Given the description of an element on the screen output the (x, y) to click on. 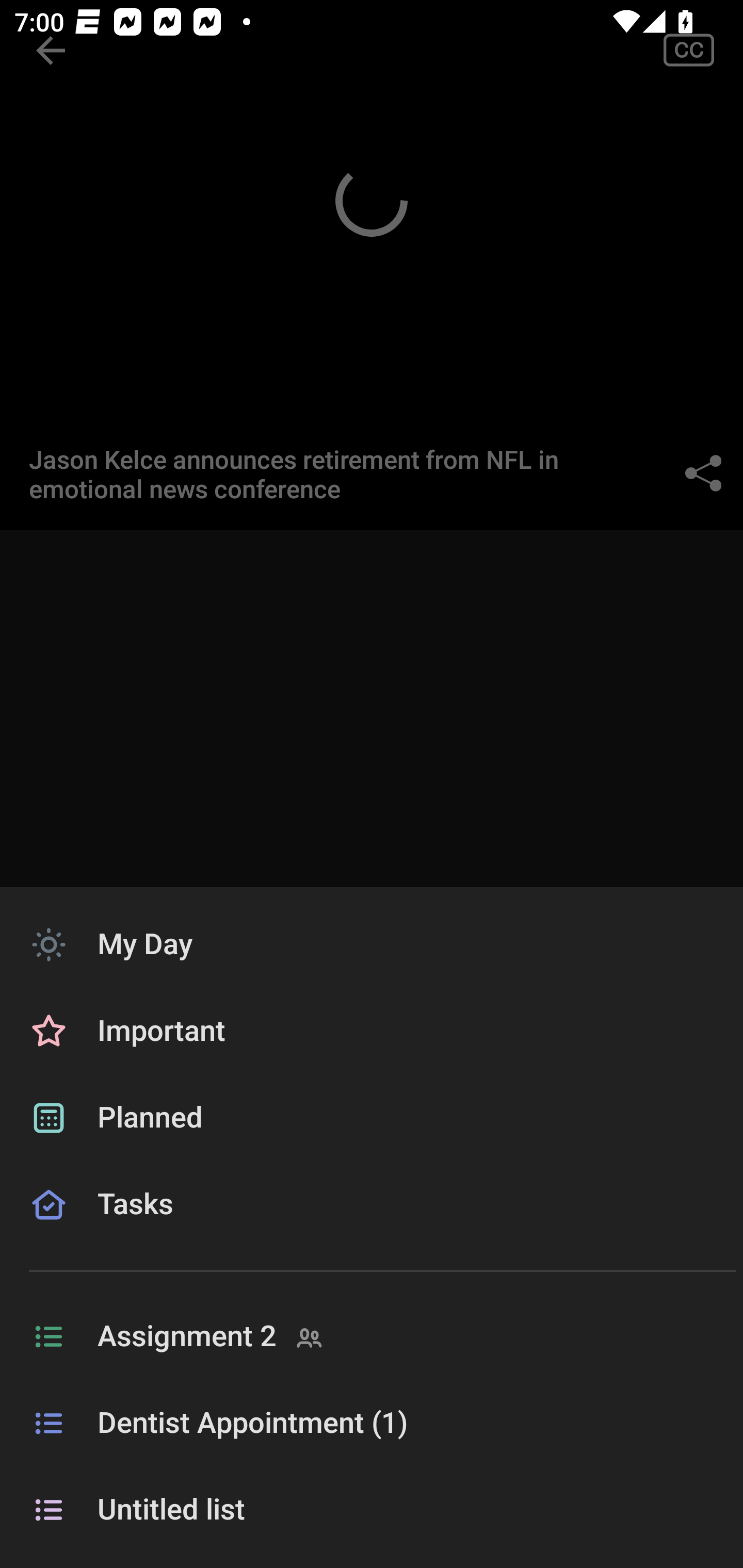
My Day, 0 tasks My Day (371, 944)
Important, 0 tasks Important (371, 1031)
Planned, 0 tasks Planned (371, 1118)
Tasks (371, 1227)
Shared list. Assignment 2 Assignment 2 Shared list (371, 1336)
Dentist Appointment (1) (371, 1423)
Untitled list (371, 1510)
